Given the description of an element on the screen output the (x, y) to click on. 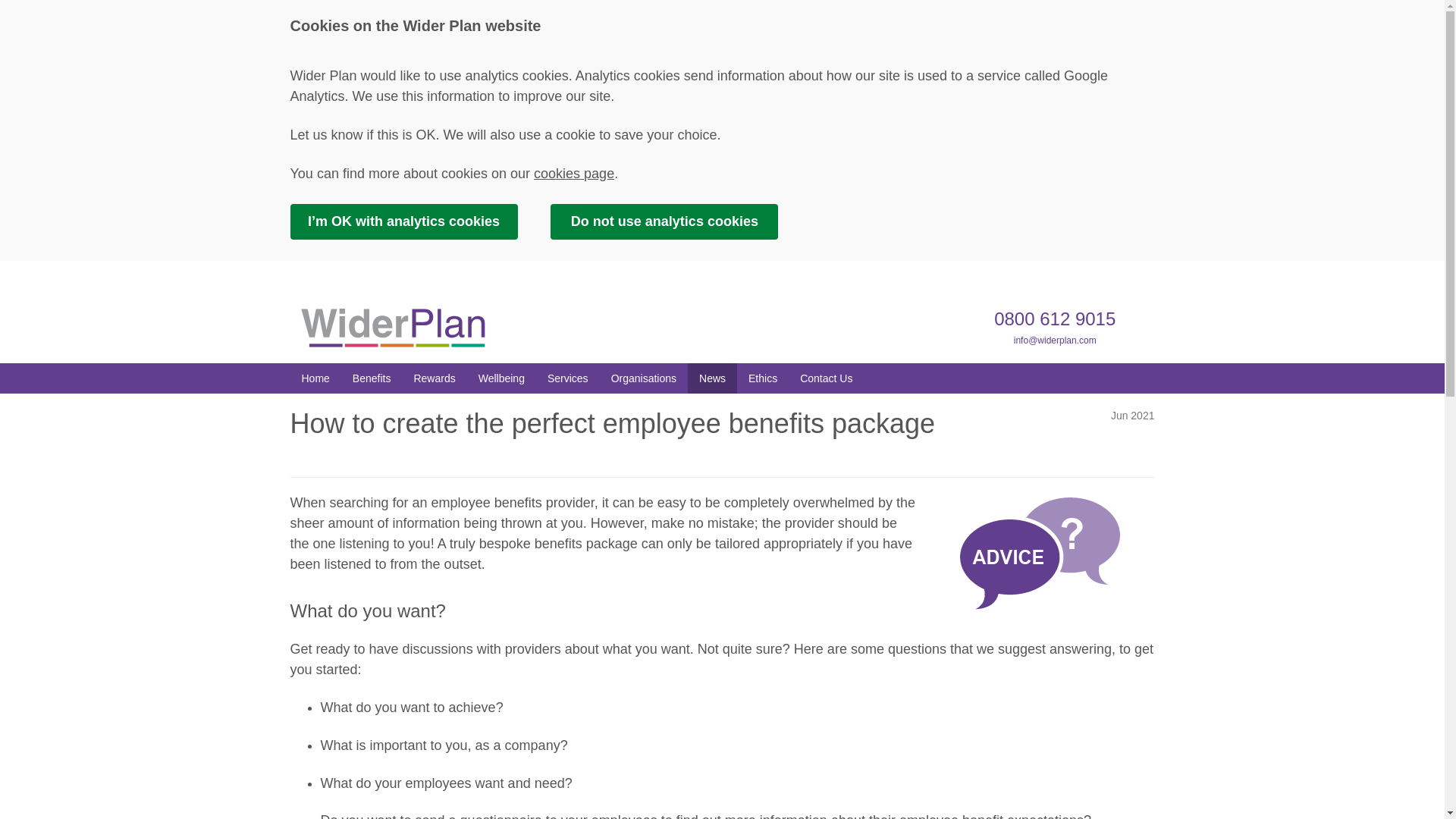
Contact Us (826, 378)
Do not use analytics cookies (663, 221)
Ethics (762, 378)
cookies page (574, 173)
News (711, 378)
Wider Plan (392, 327)
Benefits (371, 378)
Email our customer service team (1054, 339)
Home (314, 378)
Call our customer service team (1054, 318)
